Given the description of an element on the screen output the (x, y) to click on. 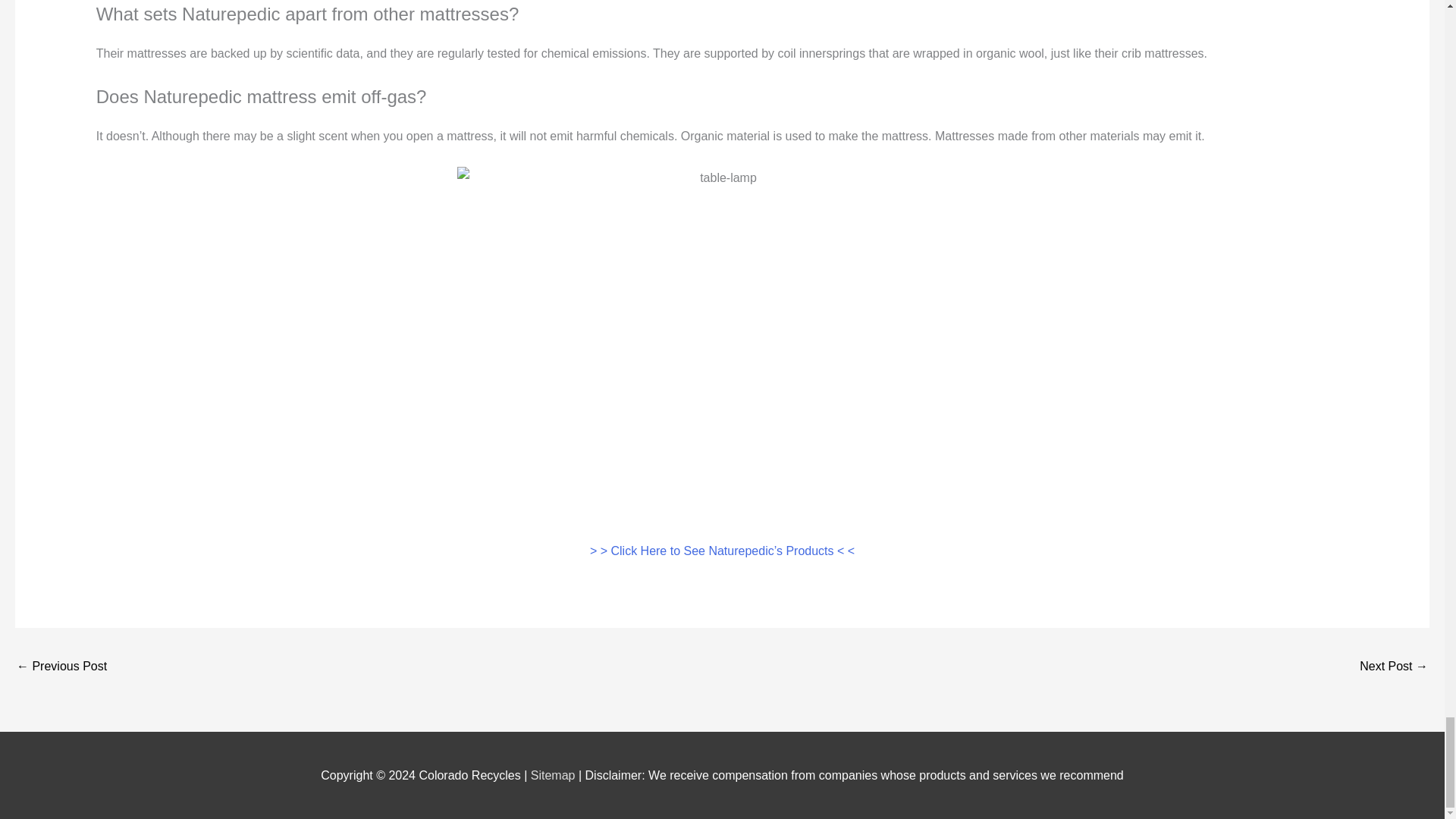
Sitemap (554, 775)
Naturepedic Twin Mattress Topper Comfort (1393, 667)
Signature Series Organic Cotton Queen Mattress (61, 667)
